Given the description of an element on the screen output the (x, y) to click on. 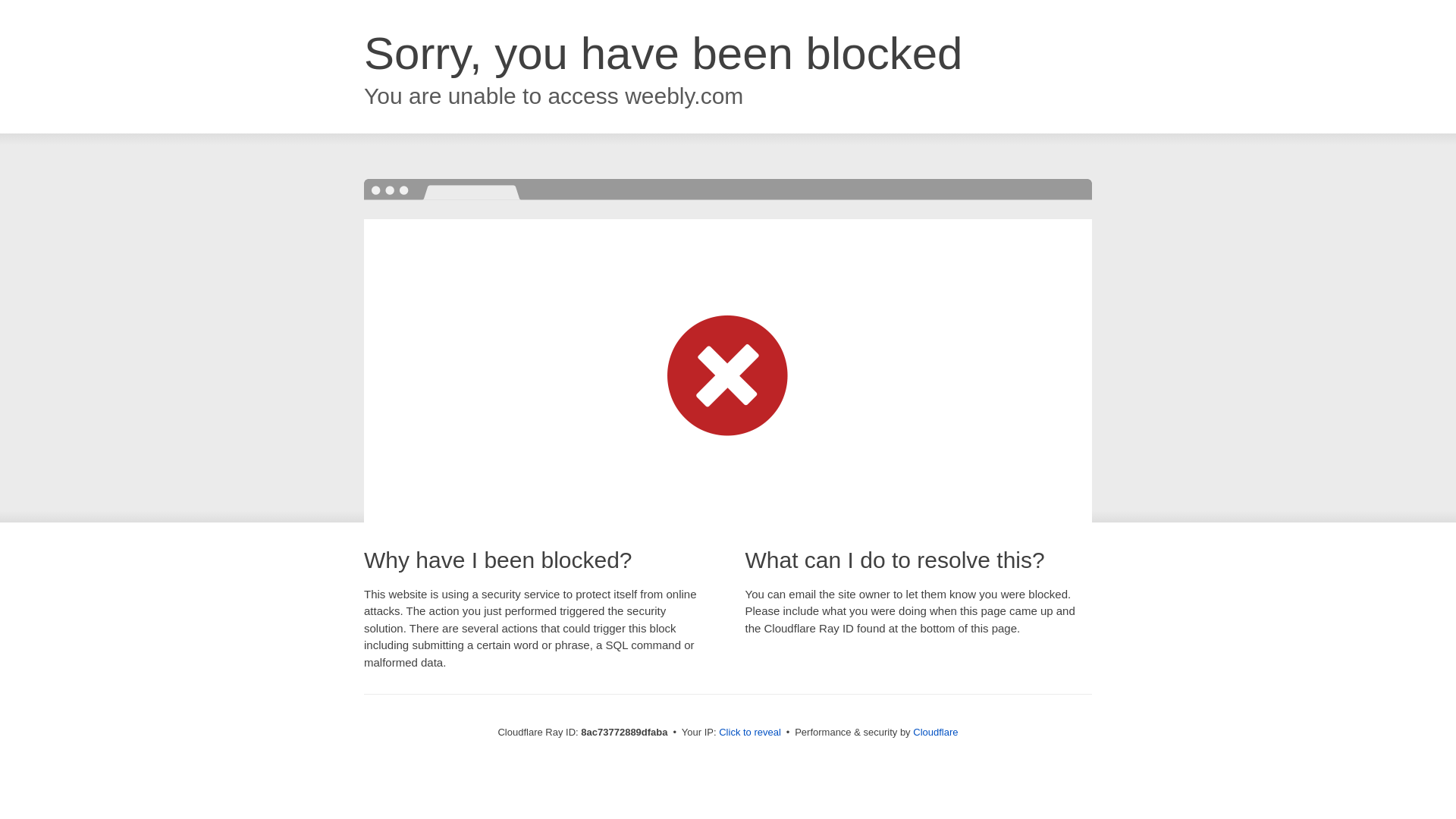
Cloudflare (935, 731)
Click to reveal (749, 732)
